Given the description of an element on the screen output the (x, y) to click on. 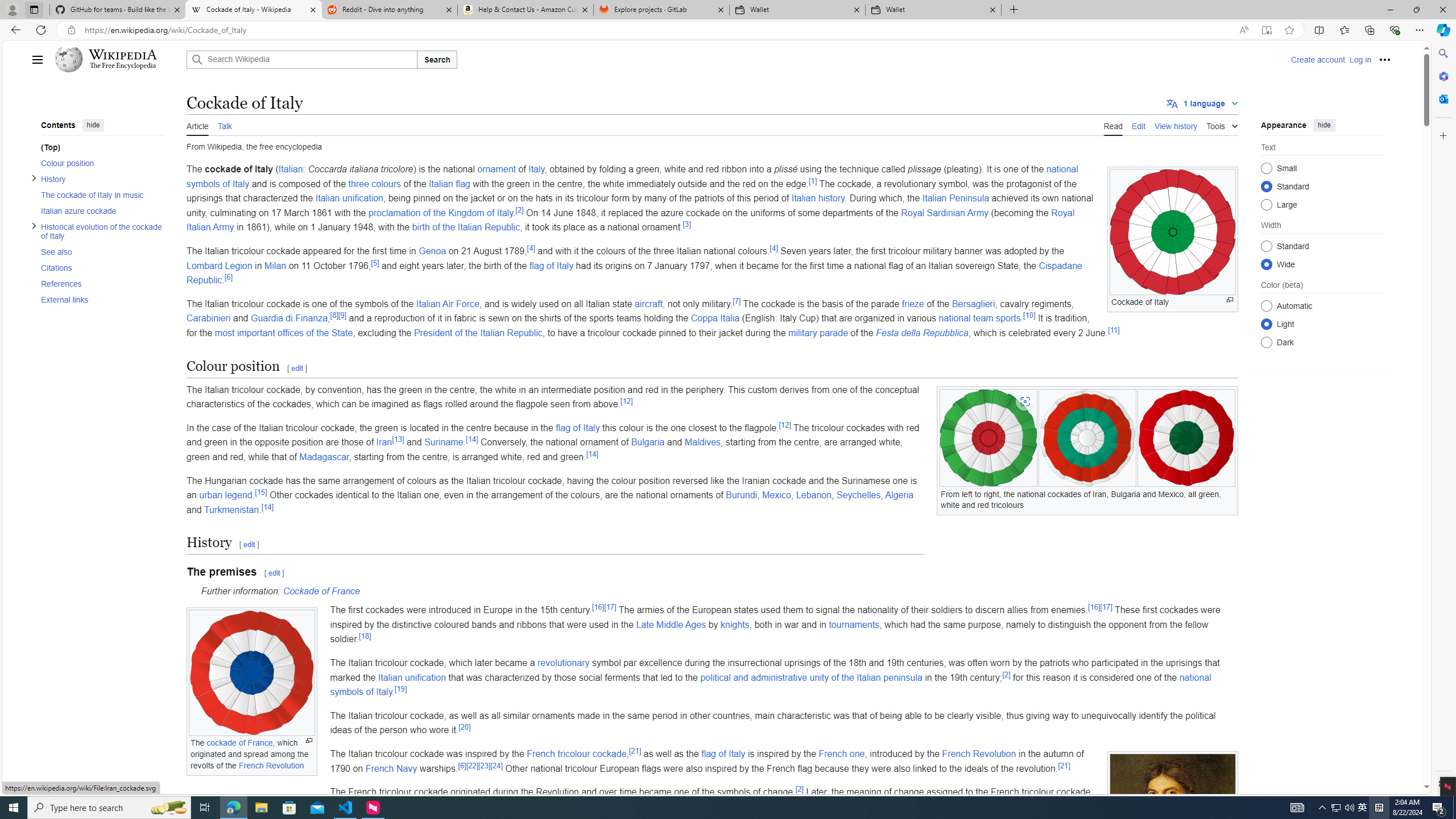
Italian Air Force (447, 303)
Italian (290, 169)
Genoa (432, 250)
